Given the description of an element on the screen output the (x, y) to click on. 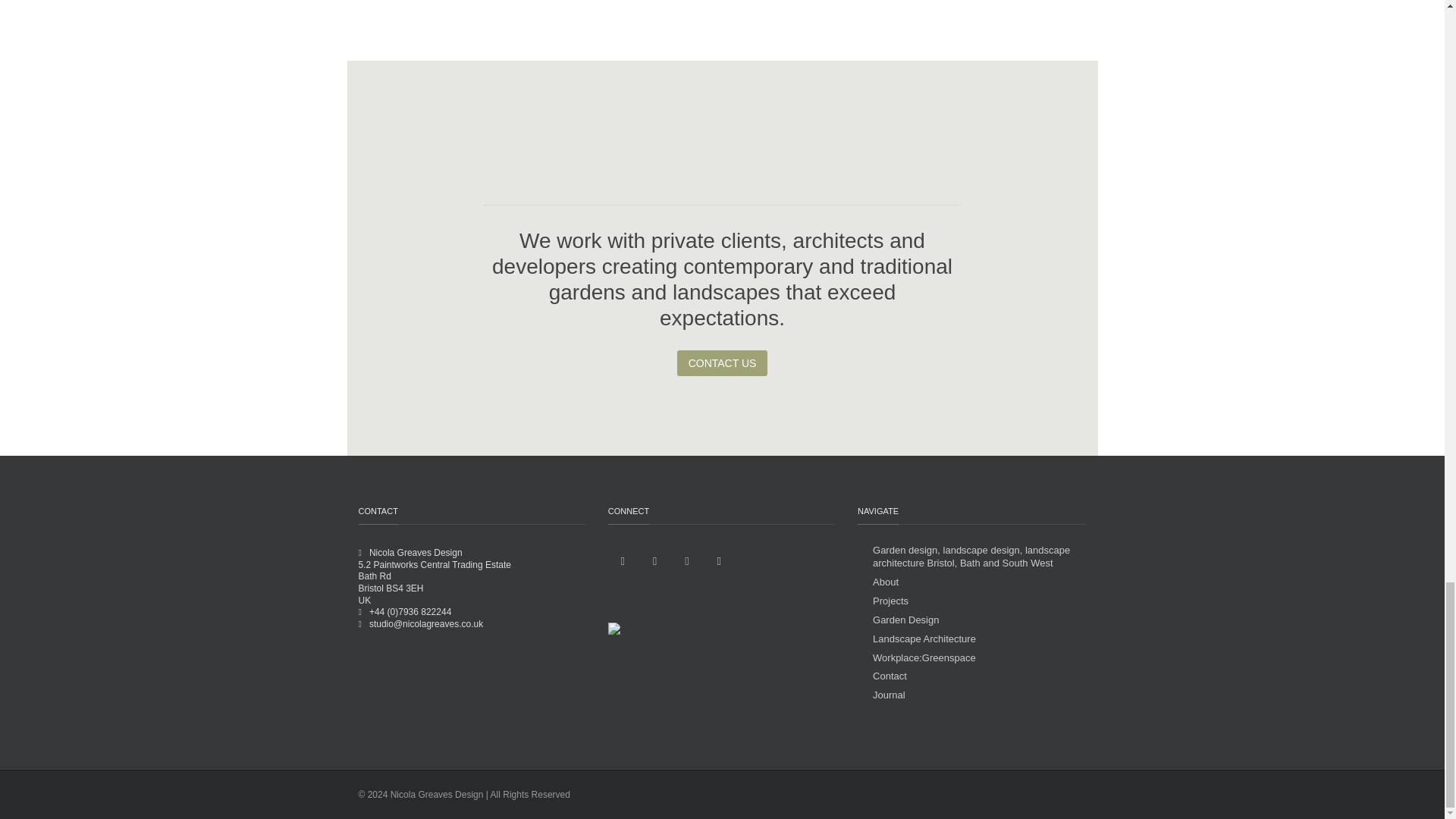
Landscape Architecture (916, 639)
Garden Design (898, 620)
Projects (882, 601)
CONTACT US (722, 362)
About (877, 582)
